Given the description of an element on the screen output the (x, y) to click on. 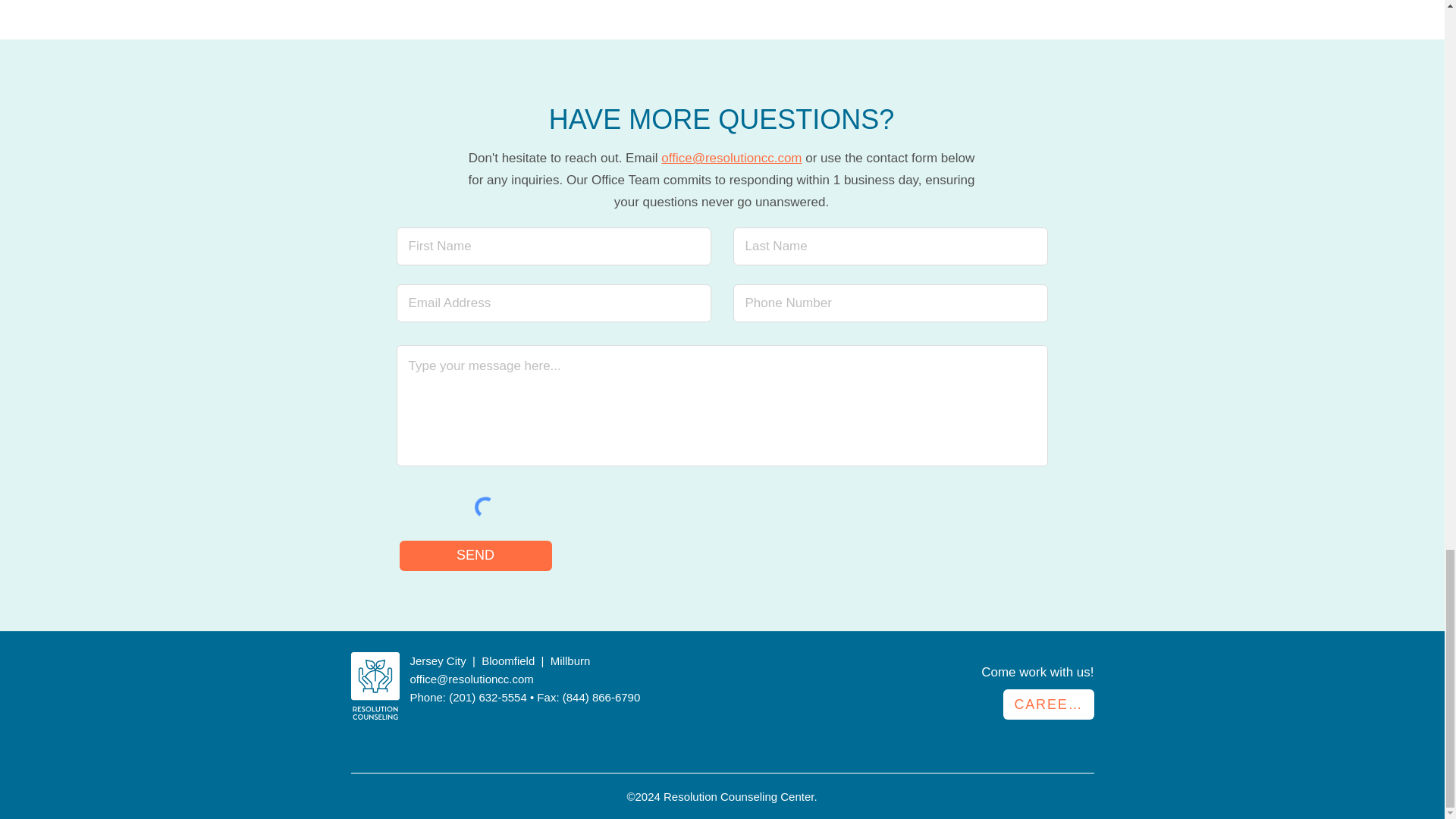
SEND (474, 555)
CAREERS (1048, 704)
